Given the description of an element on the screen output the (x, y) to click on. 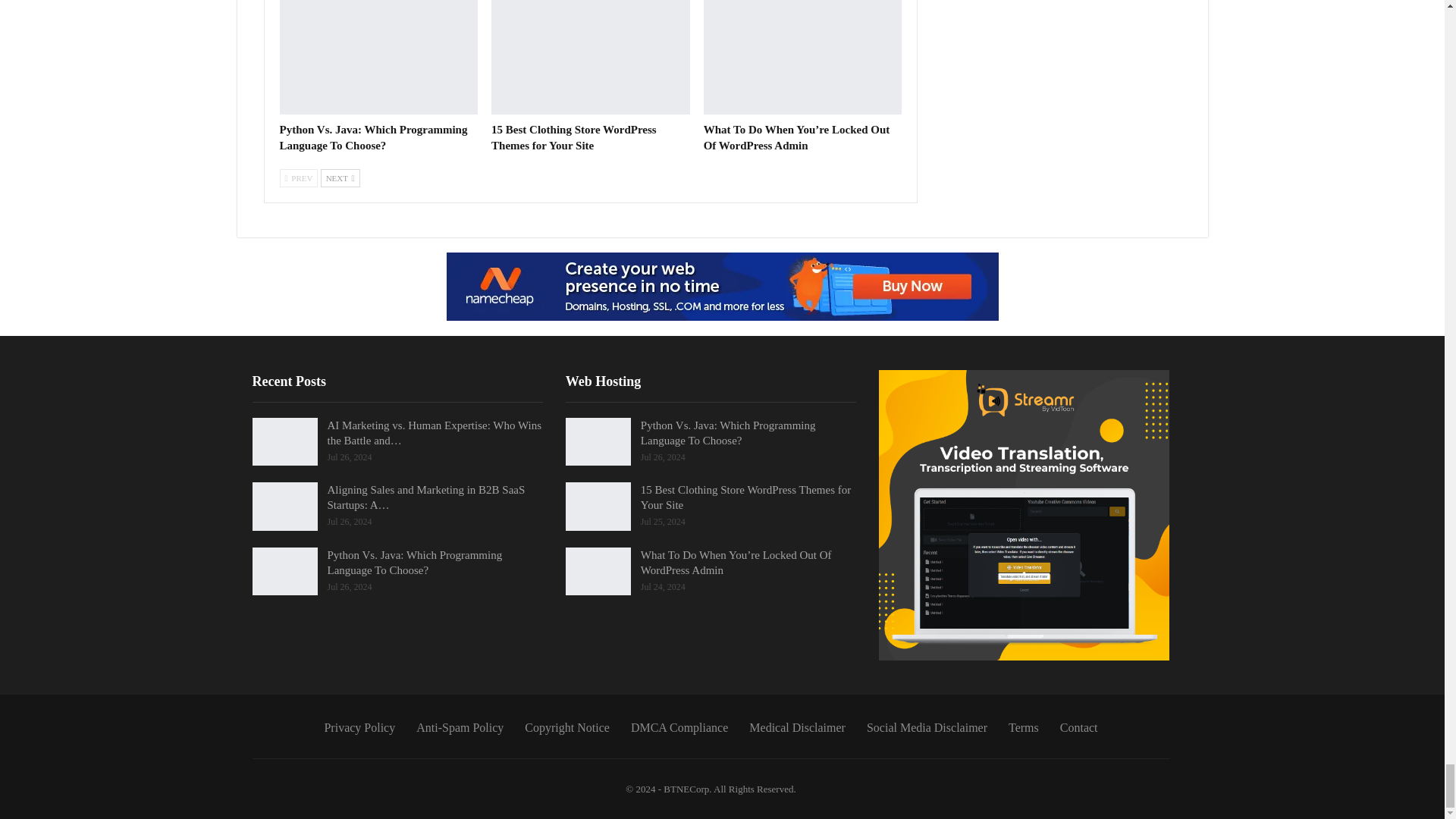
15 Best Clothing Store WordPress Themes for Your Site (591, 57)
Python Vs. Java: Which Programming Language To Choose? (378, 57)
15 Best Clothing Store WordPress Themes for Your Site (574, 137)
Next (339, 177)
Previous (298, 177)
Python Vs. Java: Which Programming Language To Choose? (373, 137)
